Given the description of an element on the screen output the (x, y) to click on. 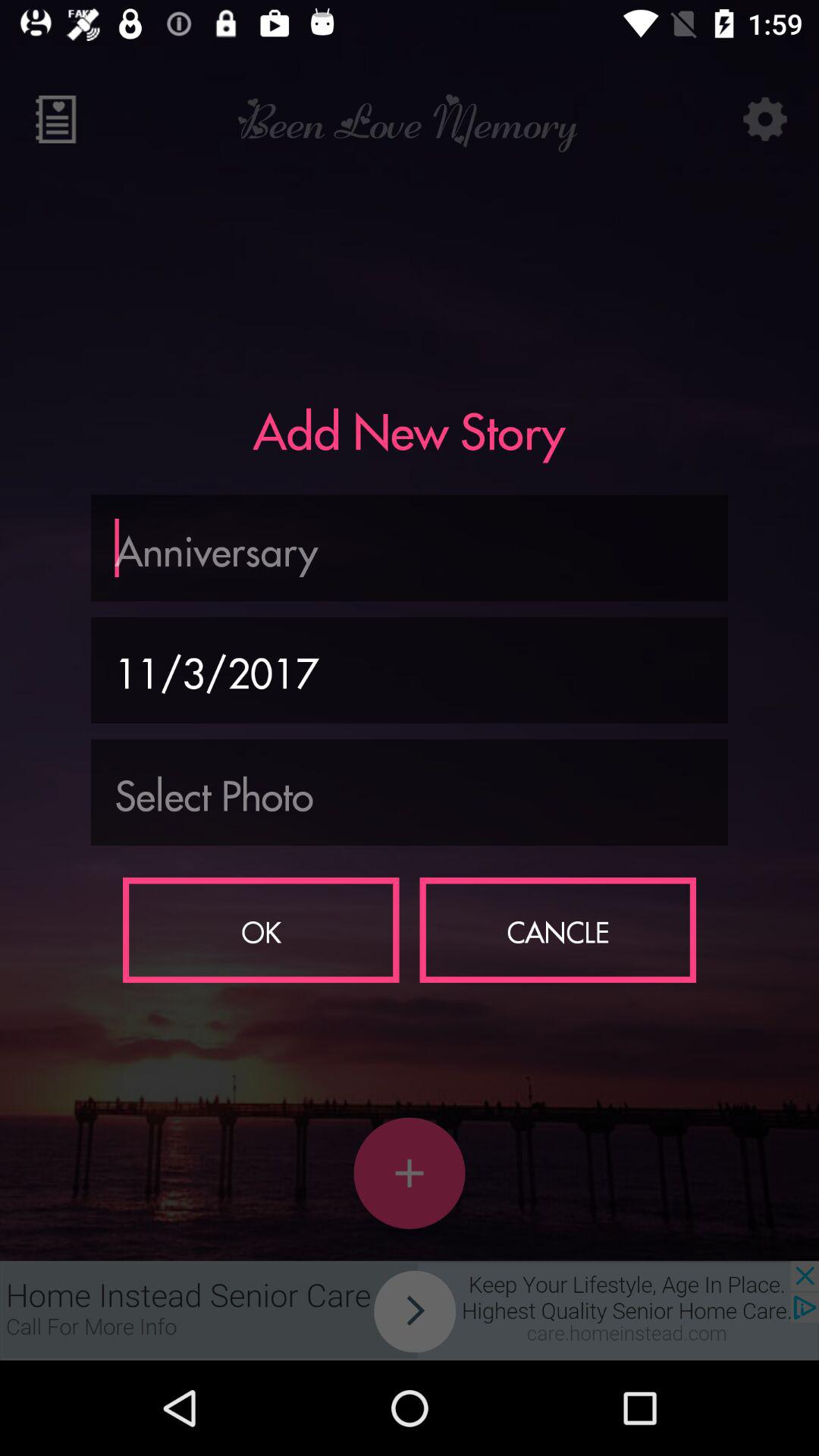
select the ok (260, 929)
